Given the description of an element on the screen output the (x, y) to click on. 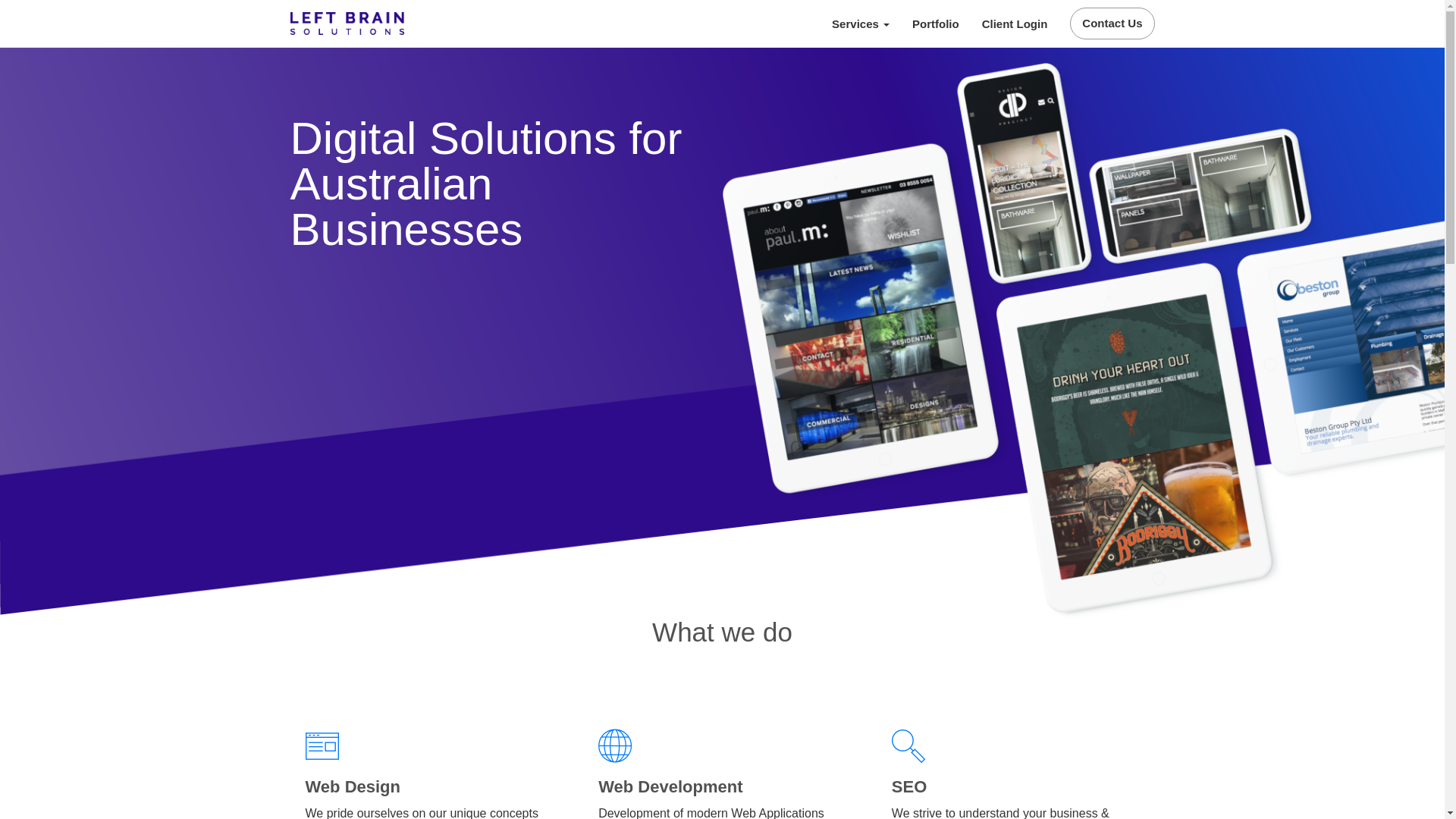
Client Login Element type: text (1015, 23)
Portfolio Element type: text (935, 23)
Web Development Element type: text (670, 786)
Web Design Element type: text (352, 786)
Contact Us Element type: text (1112, 23)
Services Element type: text (860, 23)
